Given the description of an element on the screen output the (x, y) to click on. 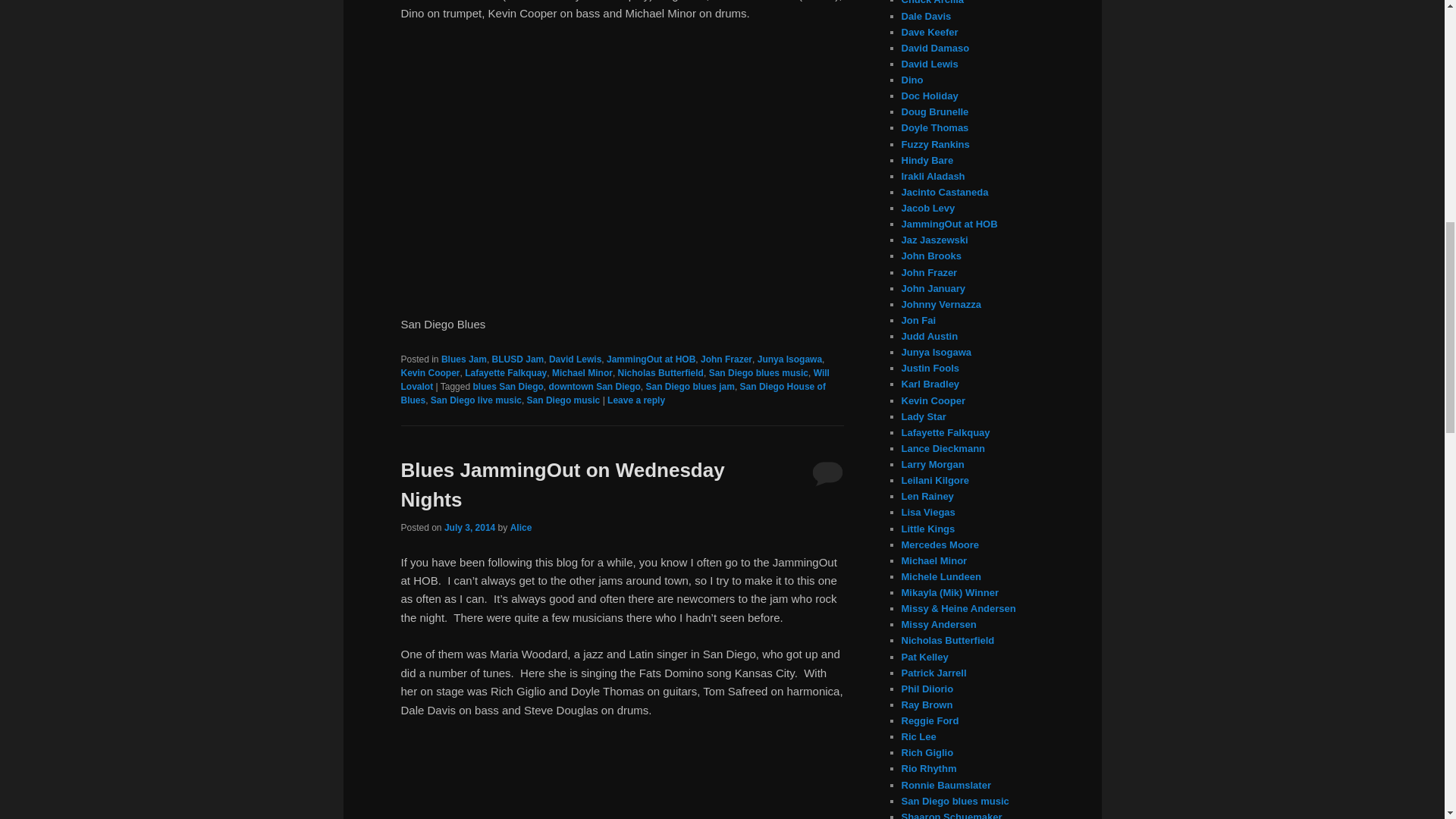
JammingOut at HOB (651, 358)
David Lewis (574, 358)
Lafayette Falkquay (505, 372)
Blues JammingOut on Wednesday Nights (561, 484)
YouTube player (621, 166)
Will Lovalot (614, 379)
downtown San Diego (594, 386)
Junya Isogawa (789, 358)
San Diego blues music (758, 372)
Kevin Cooper (430, 372)
YouTube player (621, 778)
July 3, 2014 (469, 527)
11:47 pm (469, 527)
BLUSD Jam (518, 358)
Blues Jam (463, 358)
